Given the description of an element on the screen output the (x, y) to click on. 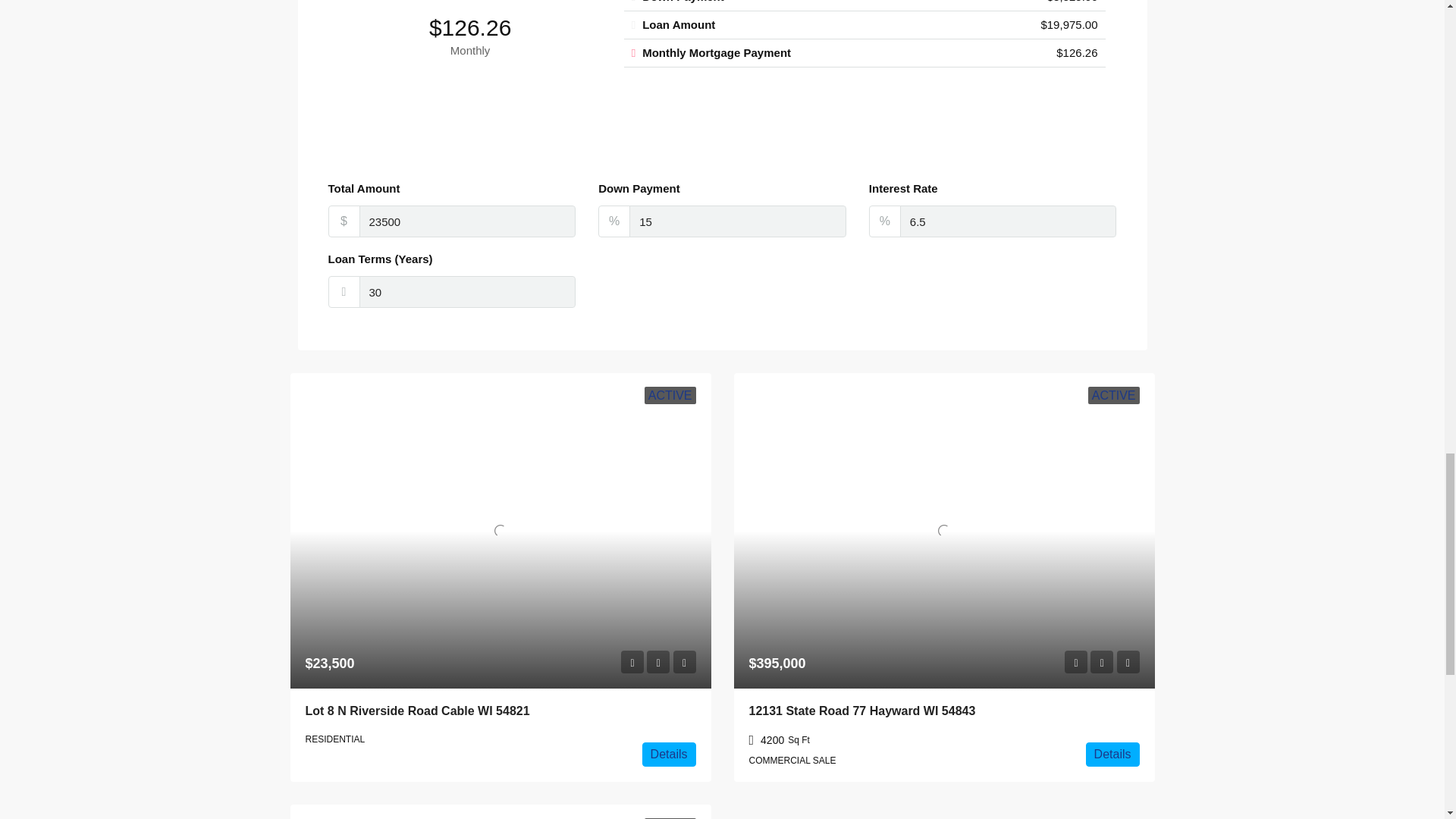
ACTIVE (1113, 395)
30 (467, 291)
12131 State Road 77 Hayward WI 54843 (862, 710)
6.5 (1007, 221)
Details (668, 754)
Lot 8 N Riverside Road Cable WI 54821 (416, 710)
ACTIVE (670, 395)
Details (1113, 754)
ACTIVE (670, 818)
15 (736, 221)
